Given the description of an element on the screen output the (x, y) to click on. 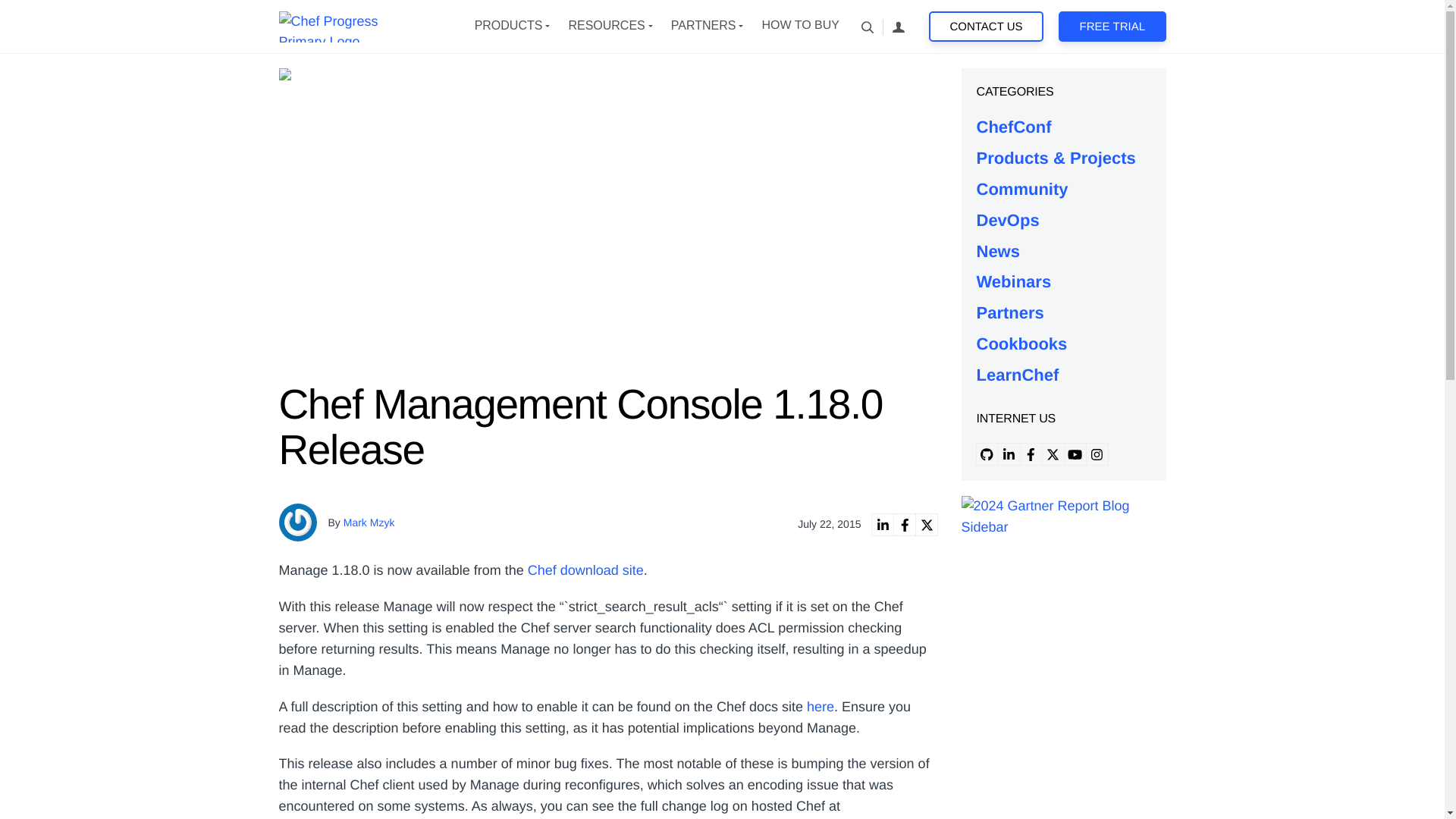
Mark Mzyk (368, 522)
Avatar (298, 522)
CONTACT US (985, 26)
SKIP NAVIGATION (352, 26)
RESOURCES (606, 25)
PRODUCTS (508, 25)
PARTNERS (703, 25)
HOW TO BUY (799, 25)
